Given the description of an element on the screen output the (x, y) to click on. 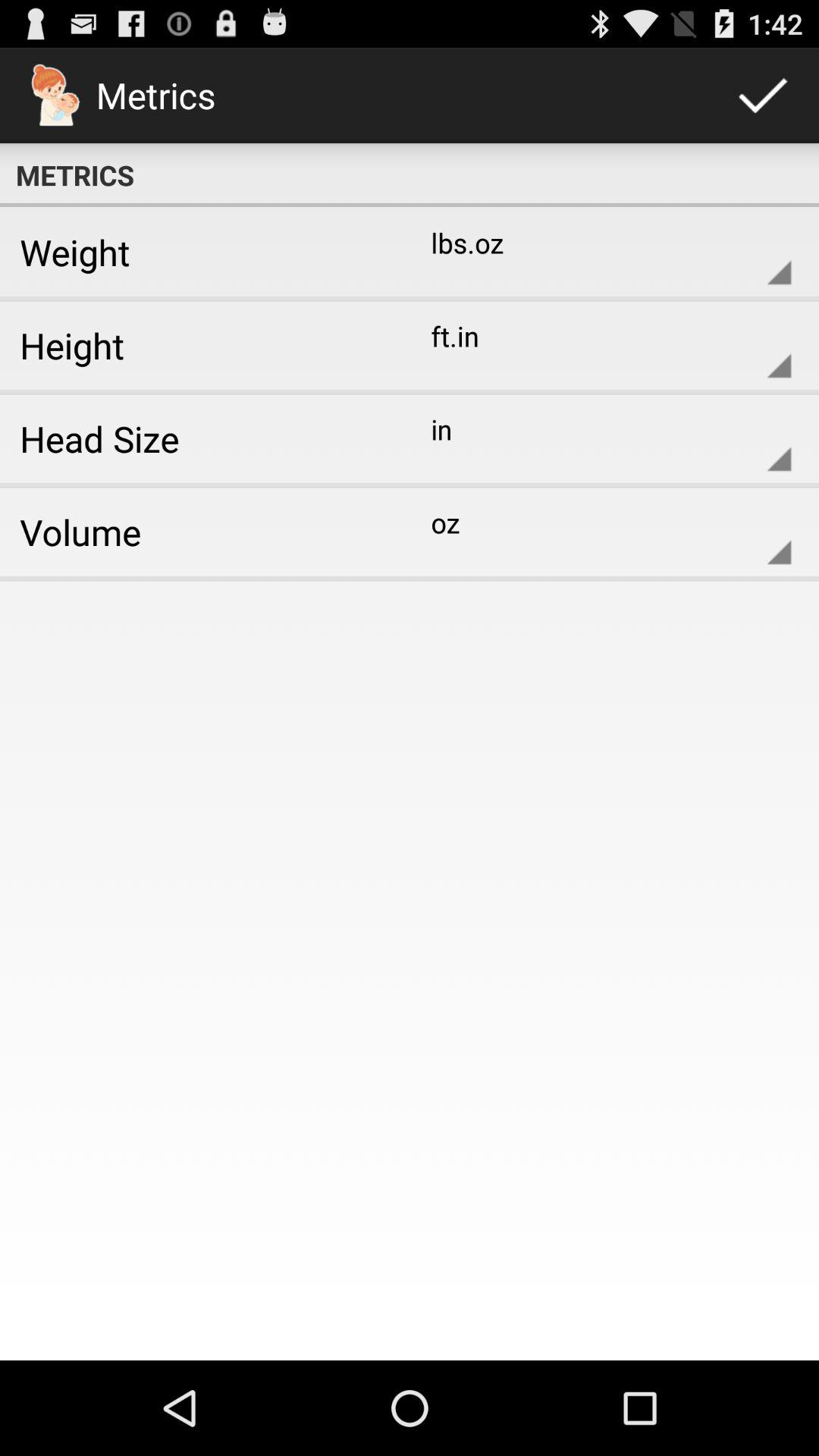
turn on ft.in (599, 345)
